Given the description of an element on the screen output the (x, y) to click on. 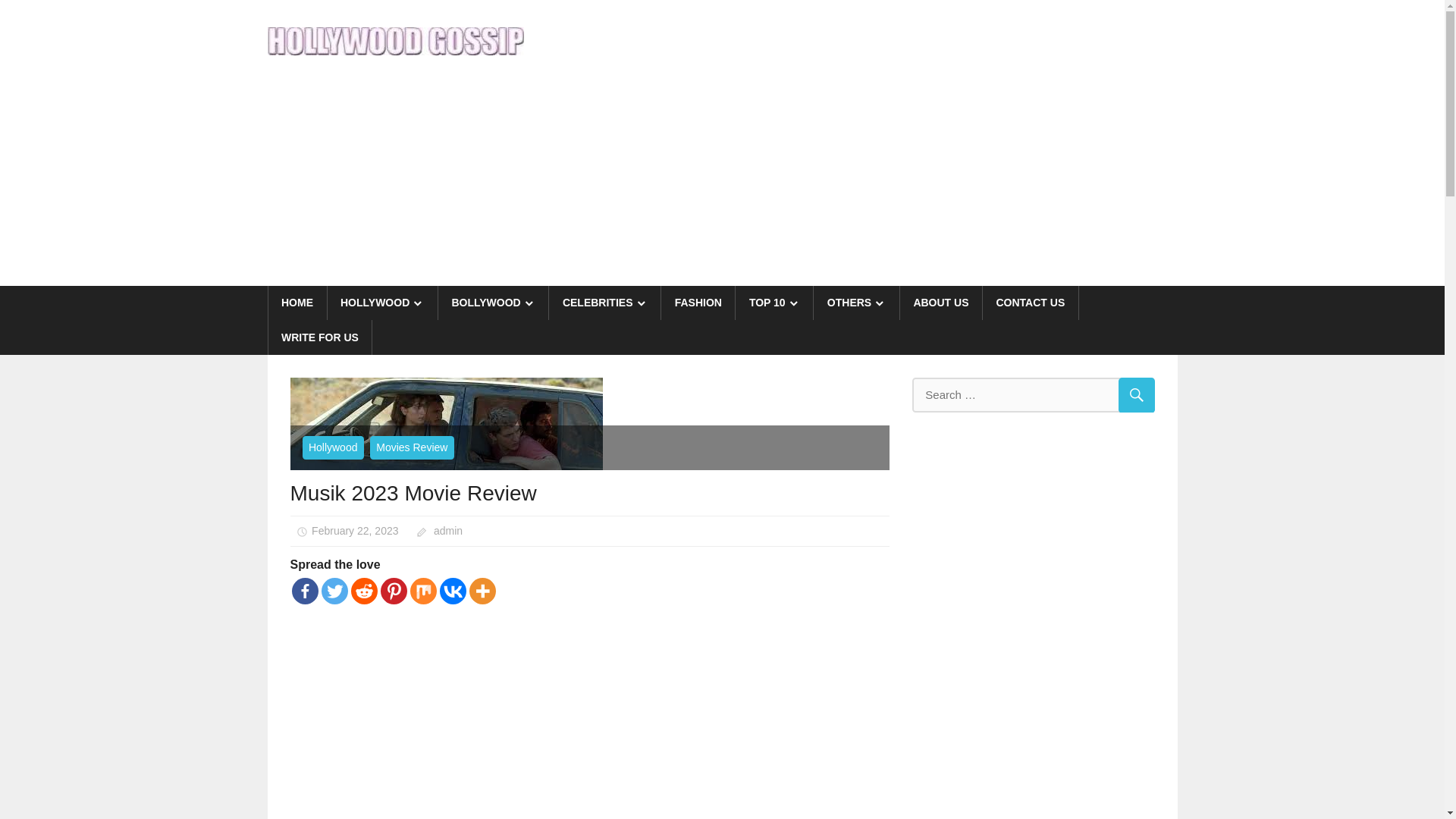
Reddit (363, 591)
Facebook (304, 591)
ABOUT US (940, 302)
Vkontakte (452, 591)
Mix (422, 591)
More (481, 591)
BOLLYWOOD (493, 302)
HOME (297, 302)
CELEBRITIES (604, 302)
Pinterest (393, 591)
CONTACT US (1030, 302)
11:01 pm (354, 530)
Search for: (1033, 395)
Twitter (334, 591)
TOP 10 (774, 302)
